Given the description of an element on the screen output the (x, y) to click on. 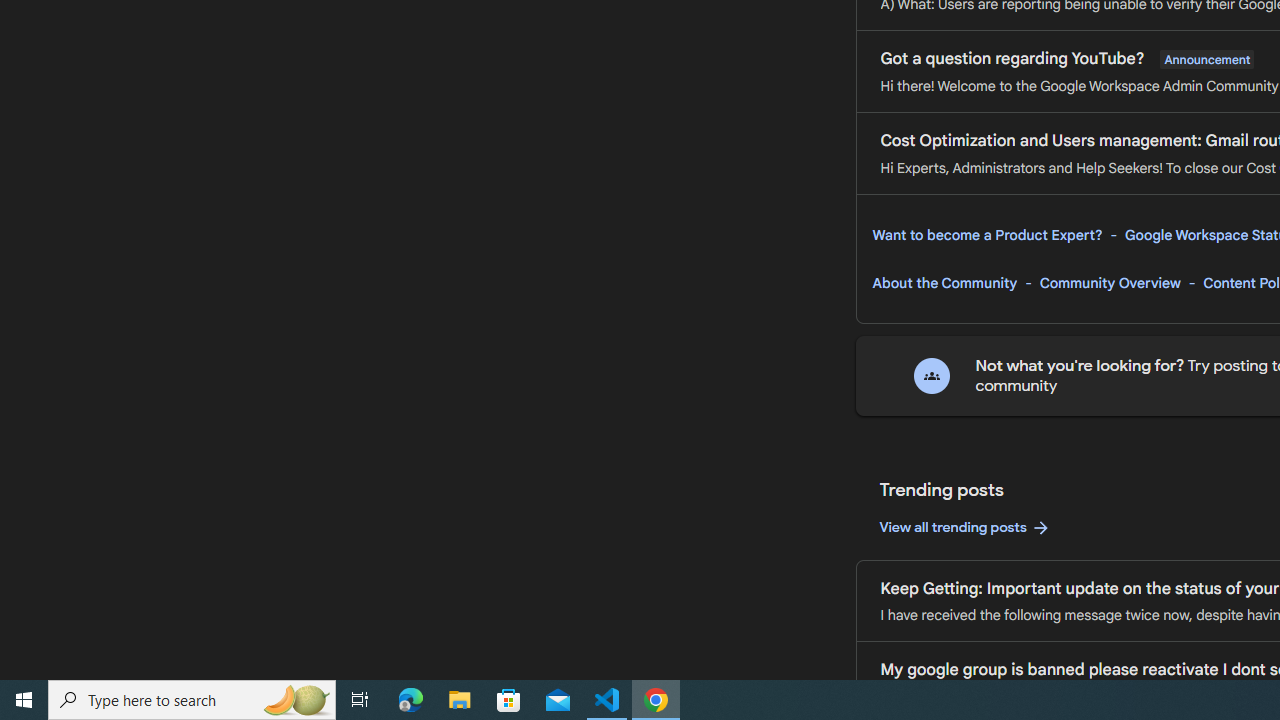
Community Overview (1110, 283)
Want to become a Product Expert? (987, 235)
About the Community (944, 283)
View all trending posts (964, 527)
